Given the description of an element on the screen output the (x, y) to click on. 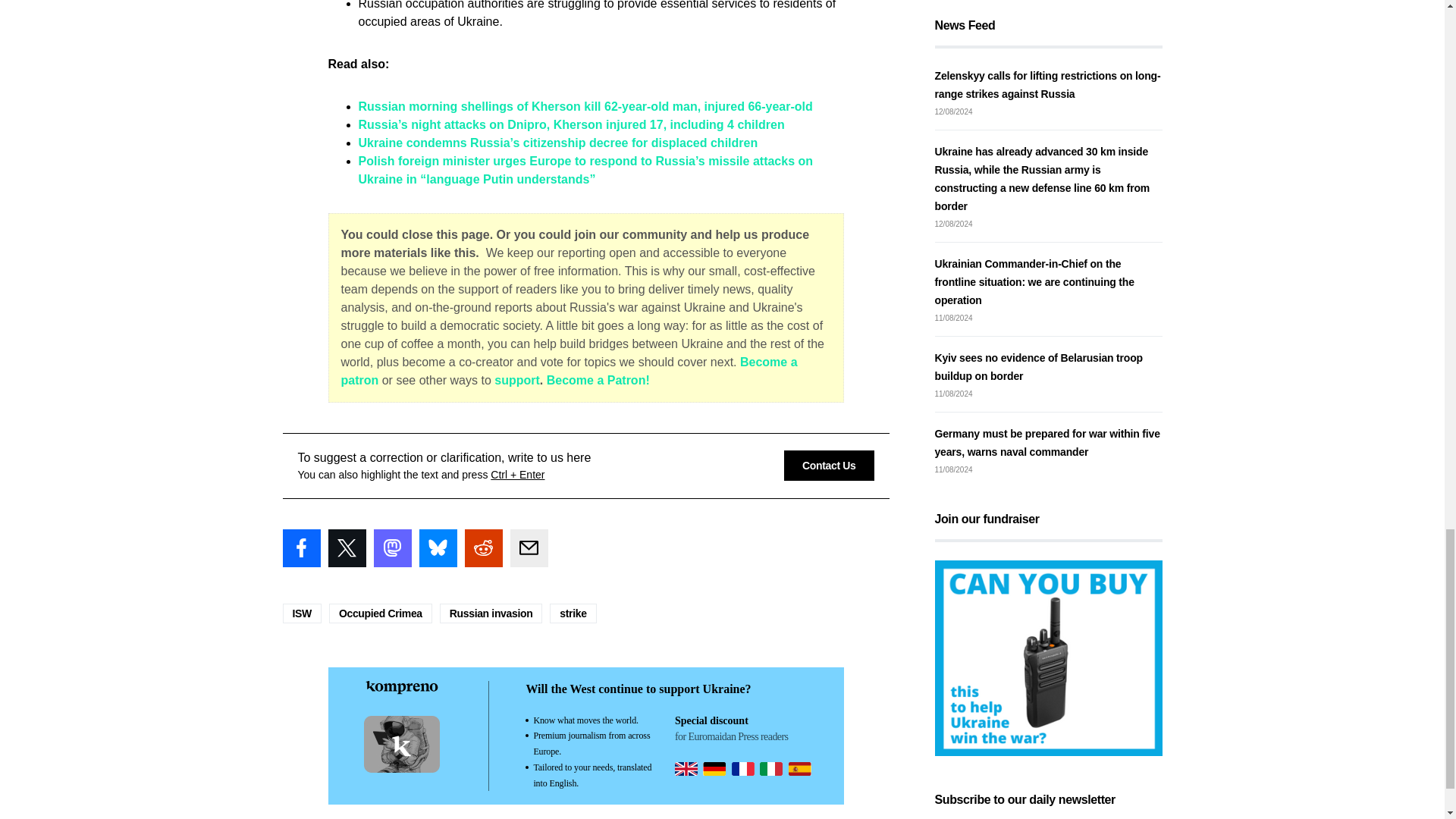
Share to Bluesky (438, 548)
Share to Facebook (301, 548)
Share to Twitter (346, 548)
Share to Email (528, 548)
Share to Mastodon (391, 548)
Share to Reddit (483, 548)
